Given the description of an element on the screen output the (x, y) to click on. 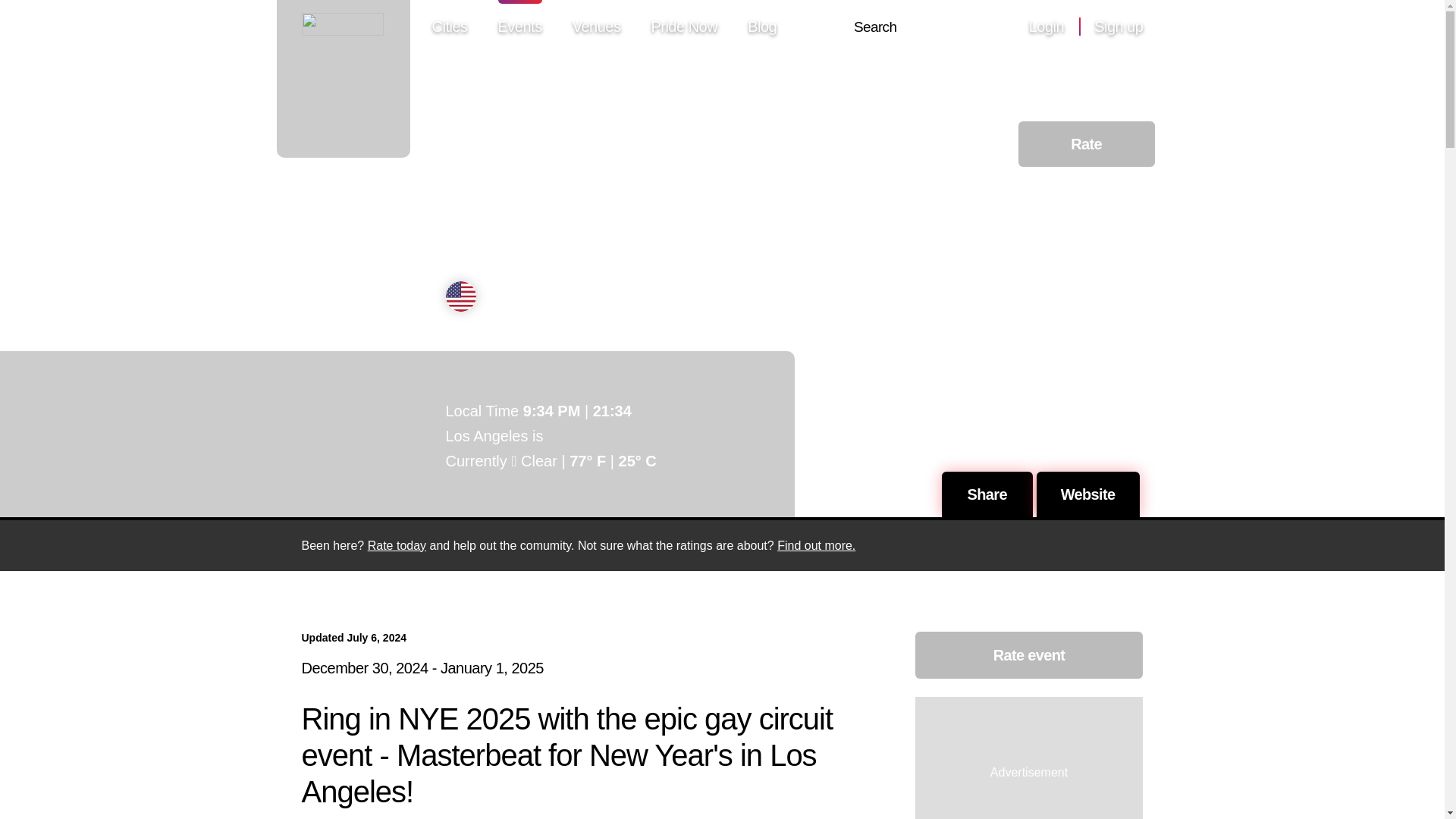
Website (1088, 493)
Pride Now (683, 26)
Share (987, 493)
Rate today (397, 545)
Search (874, 26)
Venues (596, 26)
Sign up (1118, 26)
Rate (1085, 144)
Los Angeles (537, 295)
Find out more. (816, 545)
